Given the description of an element on the screen output the (x, y) to click on. 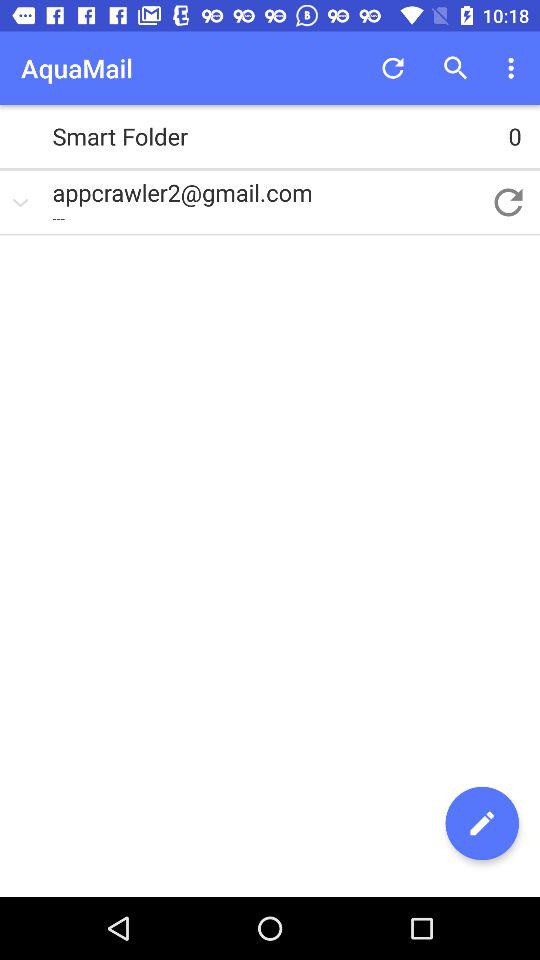
turn off item at the bottom right corner (481, 823)
